Given the description of an element on the screen output the (x, y) to click on. 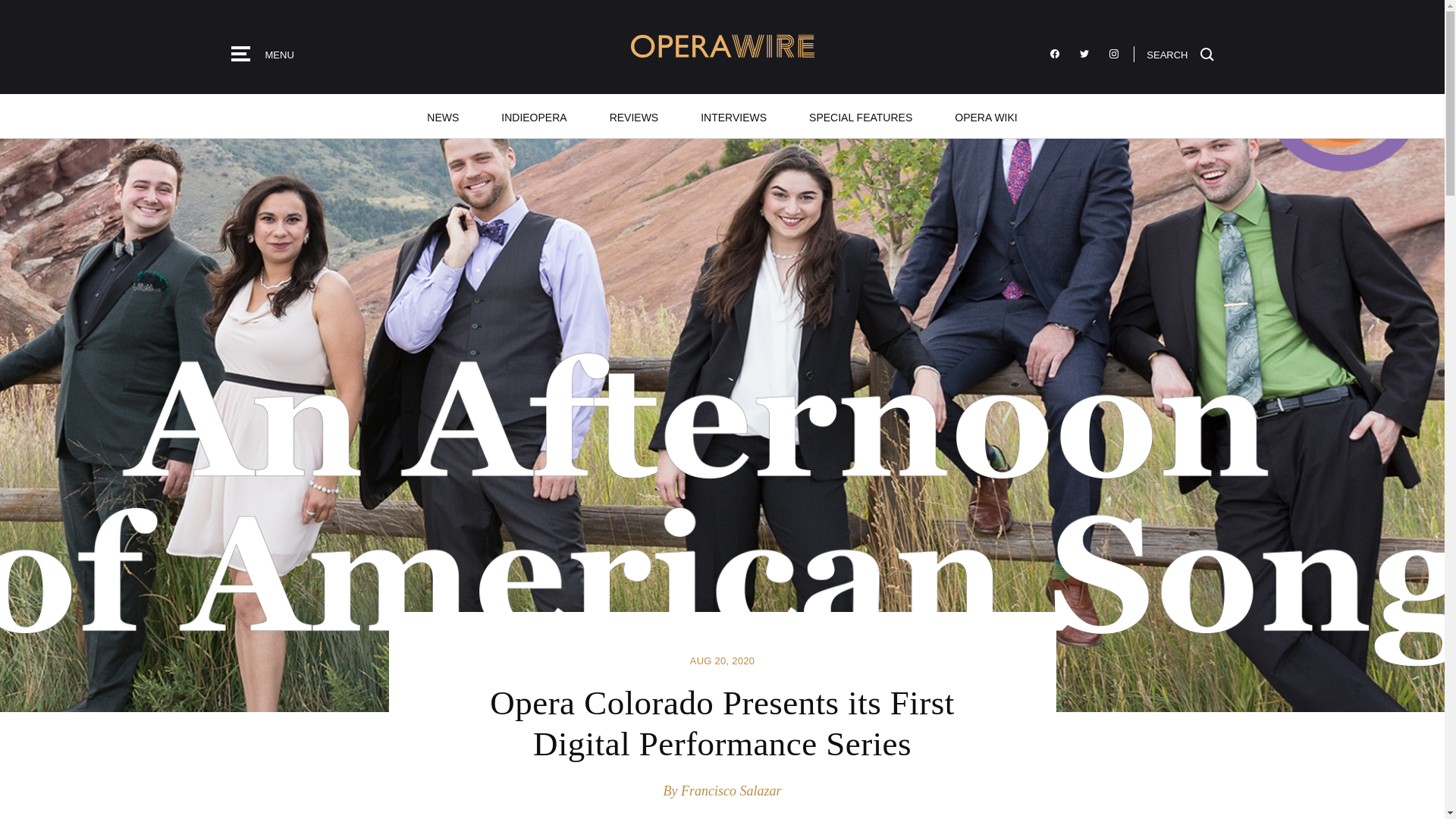
INDIEOPERA (533, 116)
SPECIAL FEATURES (860, 116)
OperaWire (721, 46)
OPERA WIKI (985, 116)
Francisco Salazar (731, 790)
REVIEWS (633, 116)
Follow OperaWire on Instagram (1113, 53)
SEARCH (1179, 53)
INTERVIEWS (733, 116)
Like OperaWire on Facebook (1054, 53)
